Given the description of an element on the screen output the (x, y) to click on. 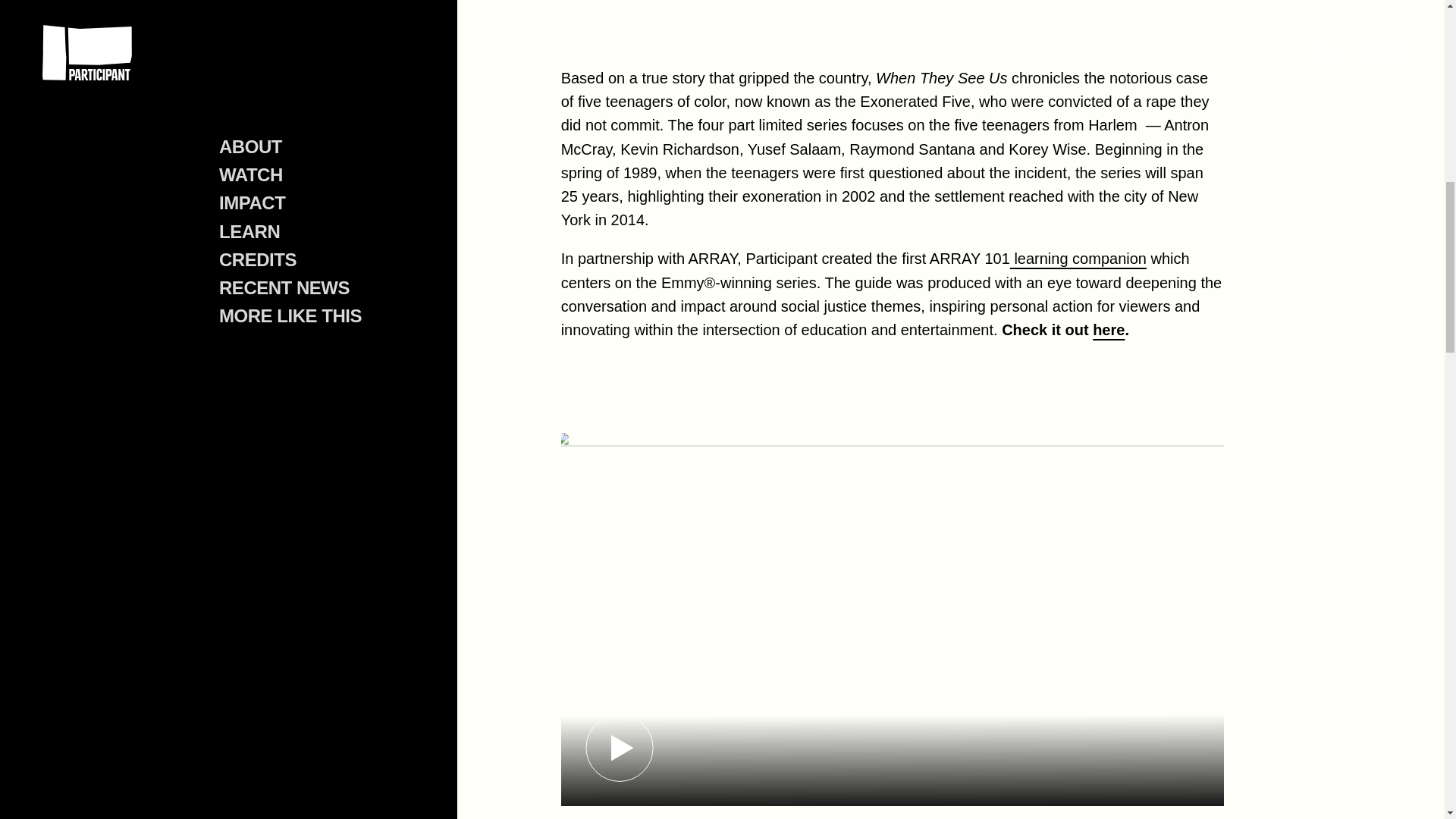
LEARN (248, 146)
WATCH (250, 89)
here (1108, 329)
RECENT NEWS (283, 202)
CREDITS (256, 174)
ABOUT (249, 61)
IMPACT (250, 117)
MORE LIKE THIS (289, 230)
 learning companion (1077, 258)
